Given the description of an element on the screen output the (x, y) to click on. 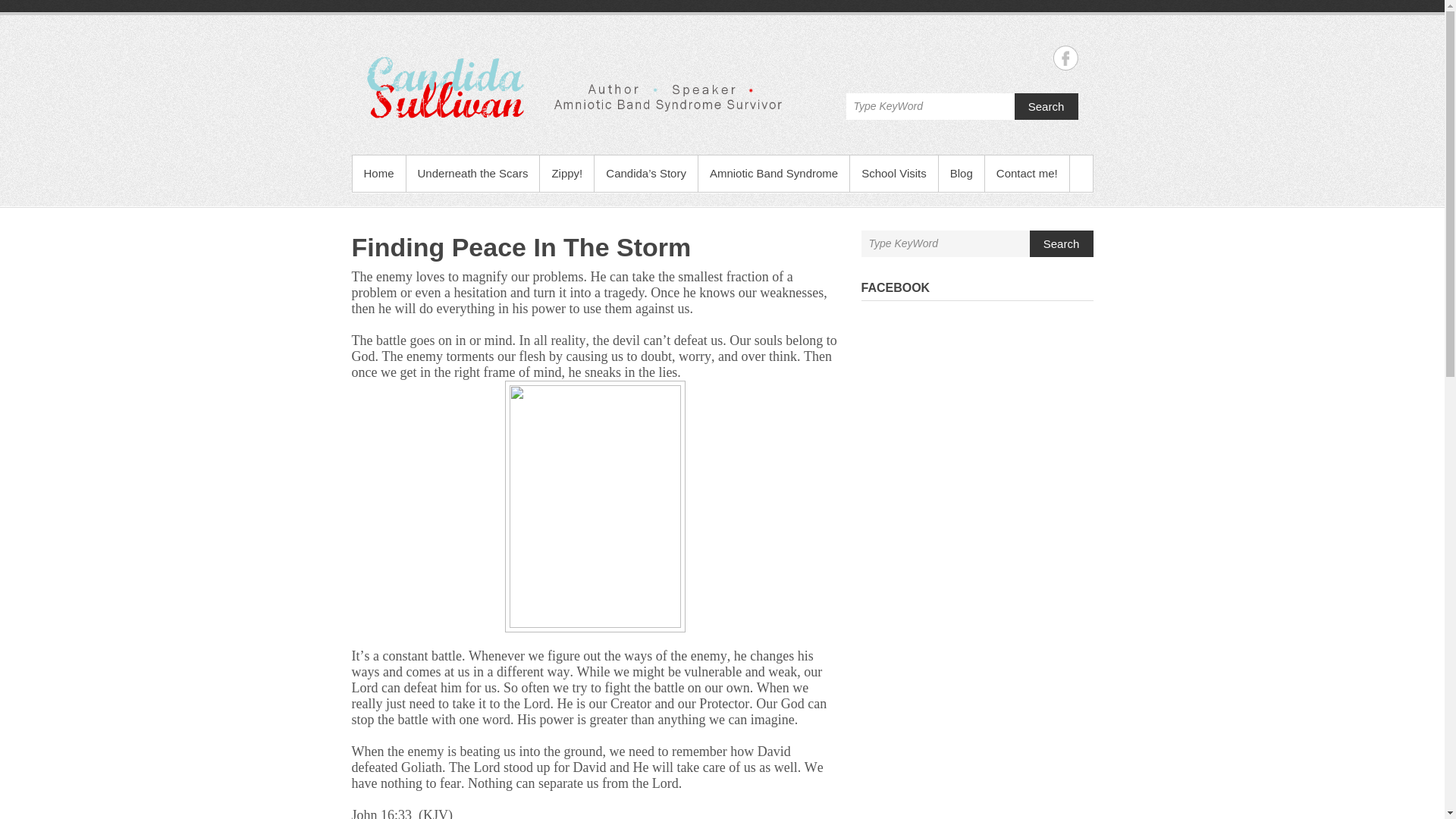
Type KeyWord (945, 243)
Type Keyword (929, 106)
Home (378, 173)
FACEBOOK (895, 287)
School Visits (893, 173)
Zippy! (567, 173)
Finding Peace In The Storm (521, 246)
Amniotic Band Syndrome (773, 173)
Type KeyWord (929, 106)
Finding Peace In The Storm (521, 246)
Search (1046, 106)
Candida Sullivan in Facebook (1064, 57)
Underneath the Scars (473, 173)
Type Keyword (945, 243)
Type KeyWord (929, 106)
